Given the description of an element on the screen output the (x, y) to click on. 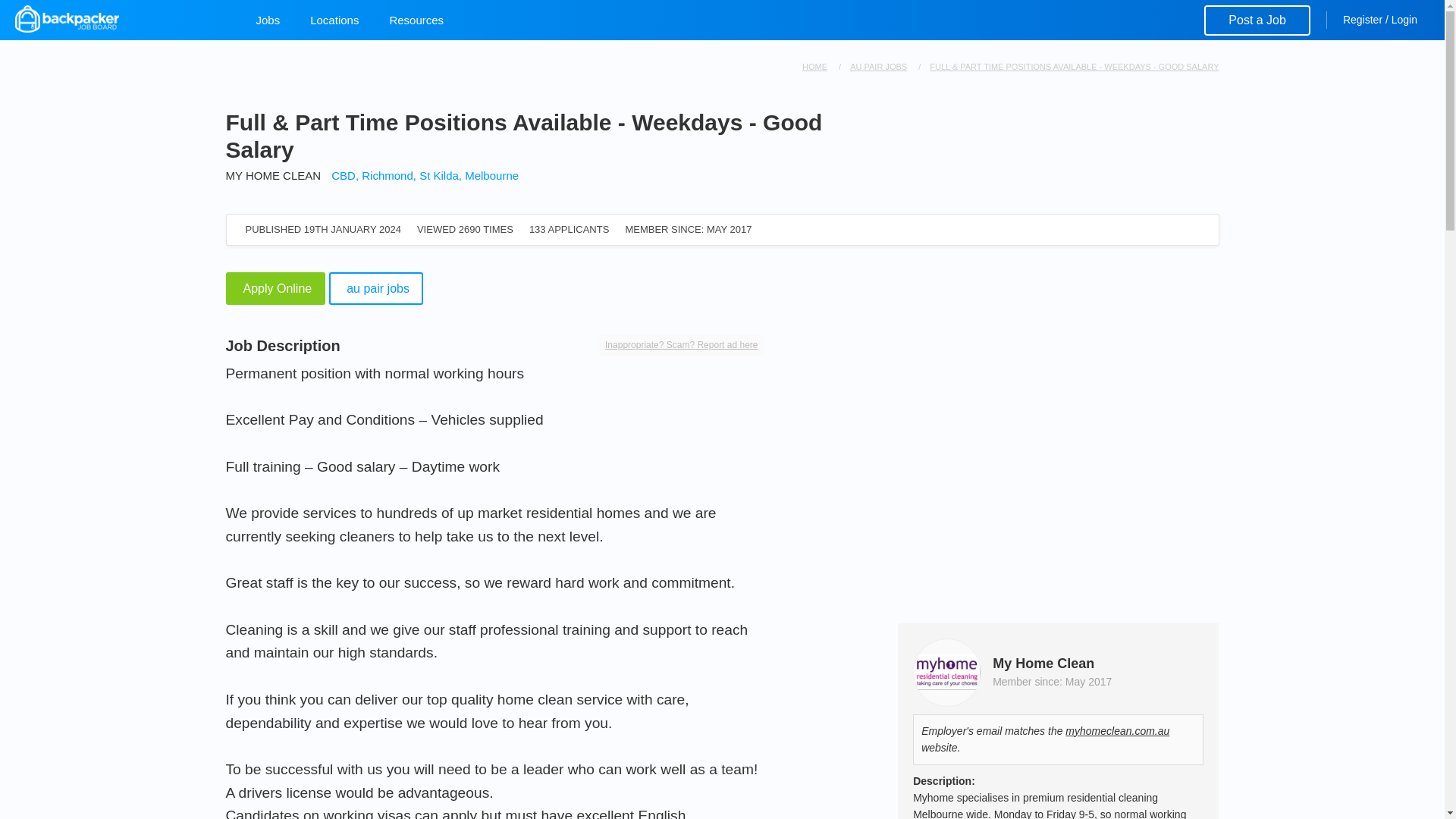
Browse backpacker job locations (334, 20)
Report Advertisement (680, 344)
HOME (814, 66)
Register (1361, 19)
au pair jobs (376, 287)
Jobs (268, 20)
Resources (416, 20)
au pair jobs (376, 287)
Post a Job (1257, 19)
AU PAIR JOBS (878, 66)
